Given the description of an element on the screen output the (x, y) to click on. 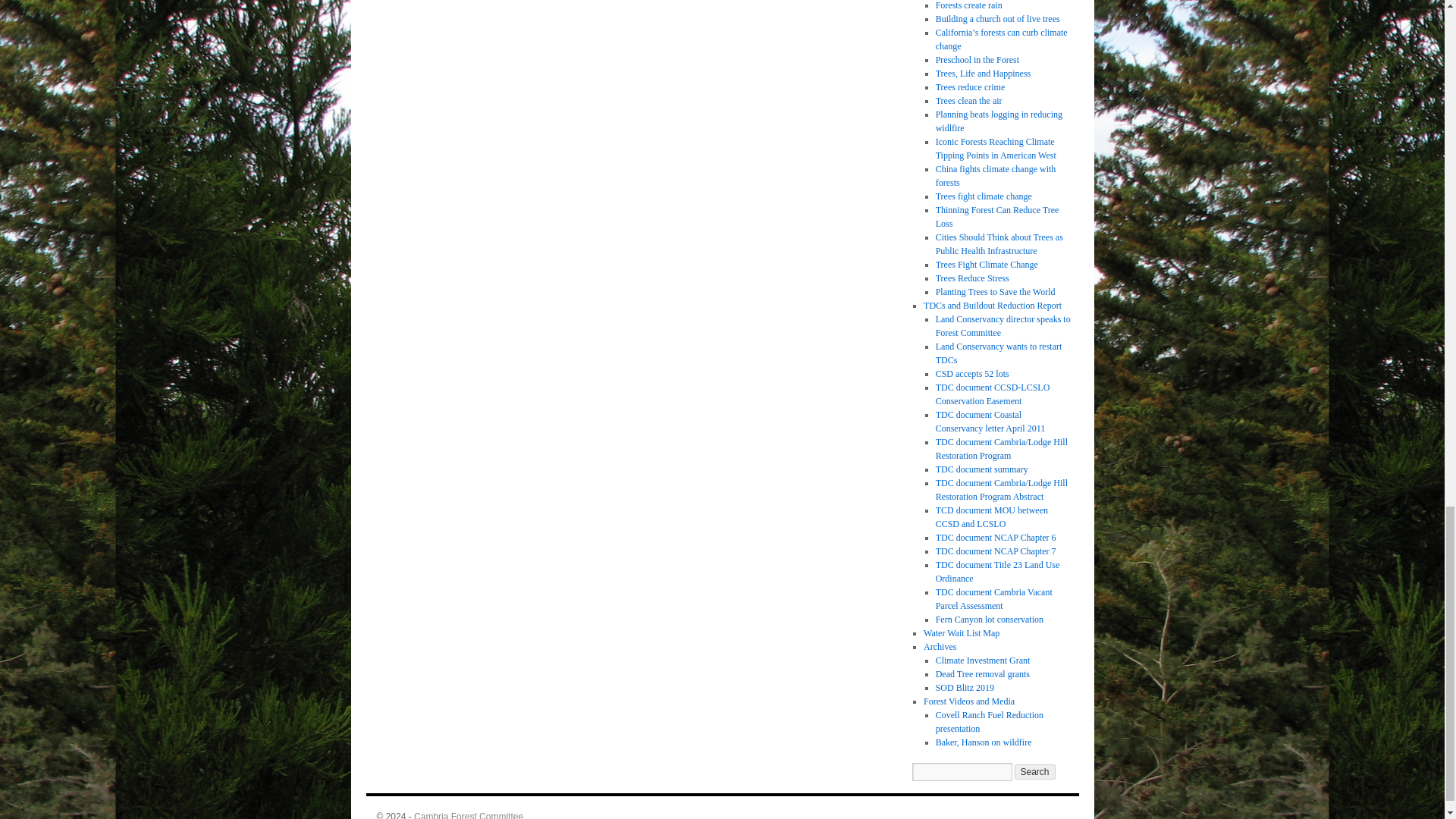
Search (1034, 771)
